Given the description of an element on the screen output the (x, y) to click on. 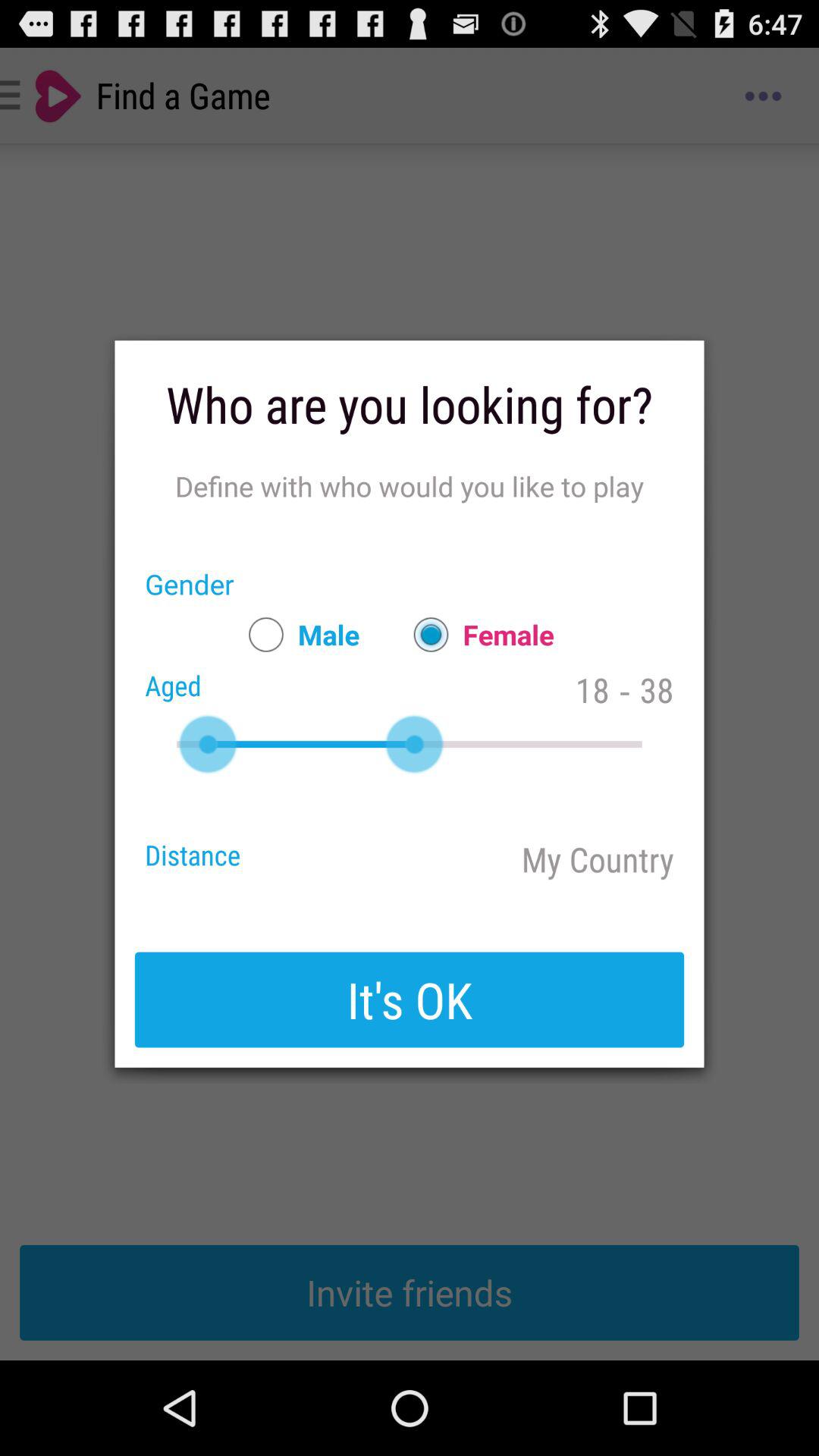
swipe until female radio button (476, 634)
